Given the description of an element on the screen output the (x, y) to click on. 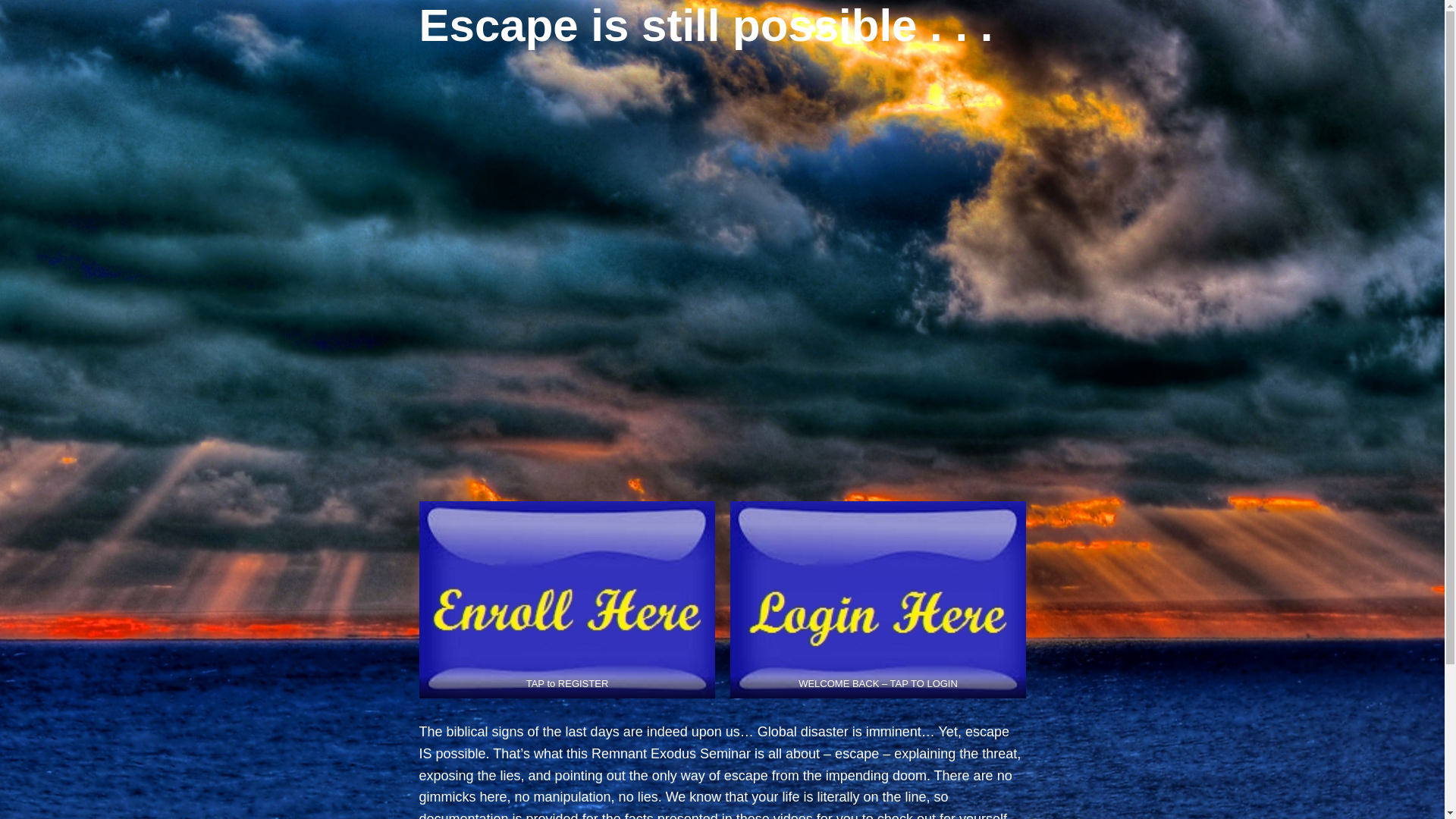
enroll-here1 (566, 599)
login-here1 (877, 599)
